Given the description of an element on the screen output the (x, y) to click on. 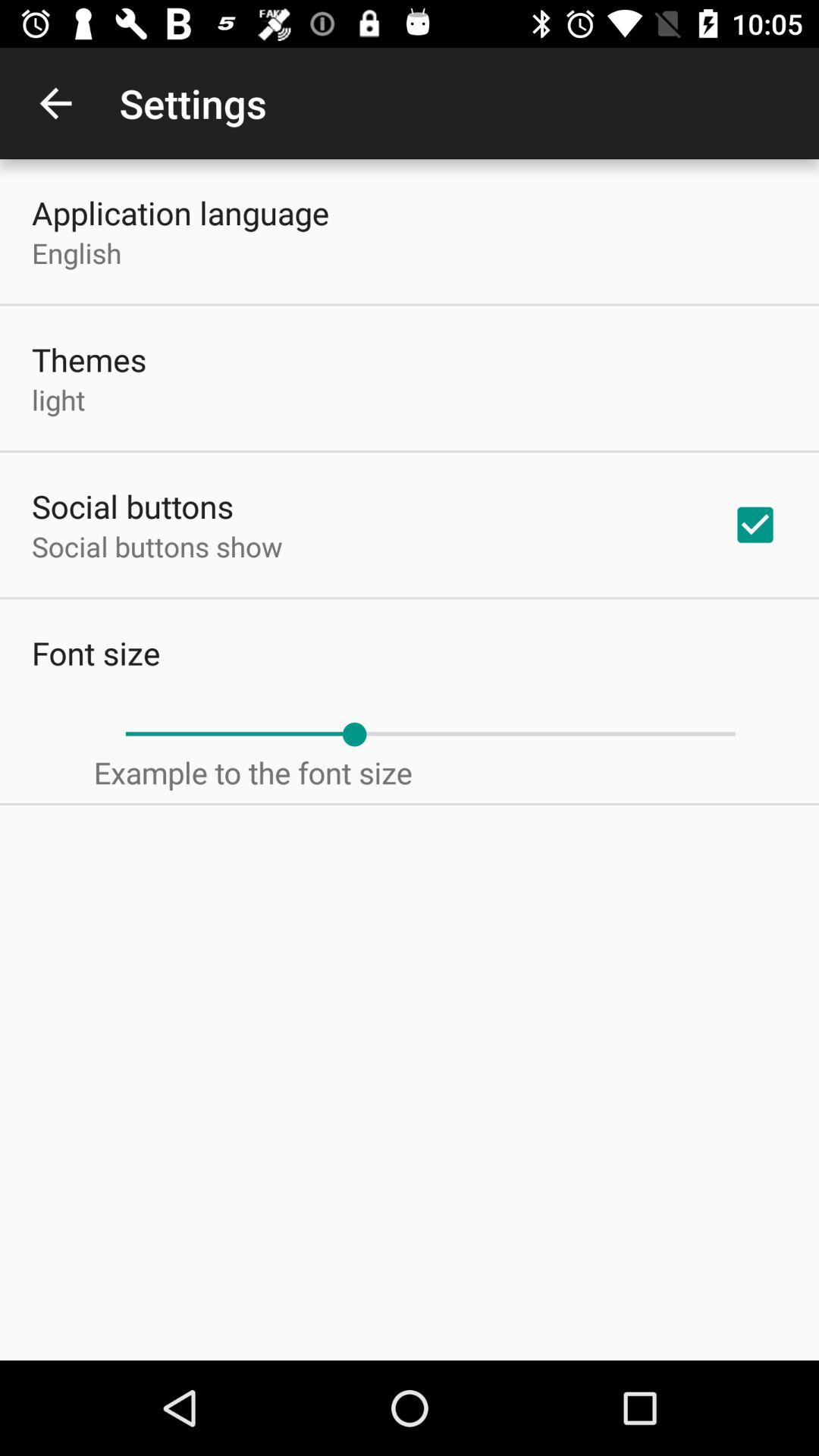
tap item at the center (430, 734)
